Given the description of an element on the screen output the (x, y) to click on. 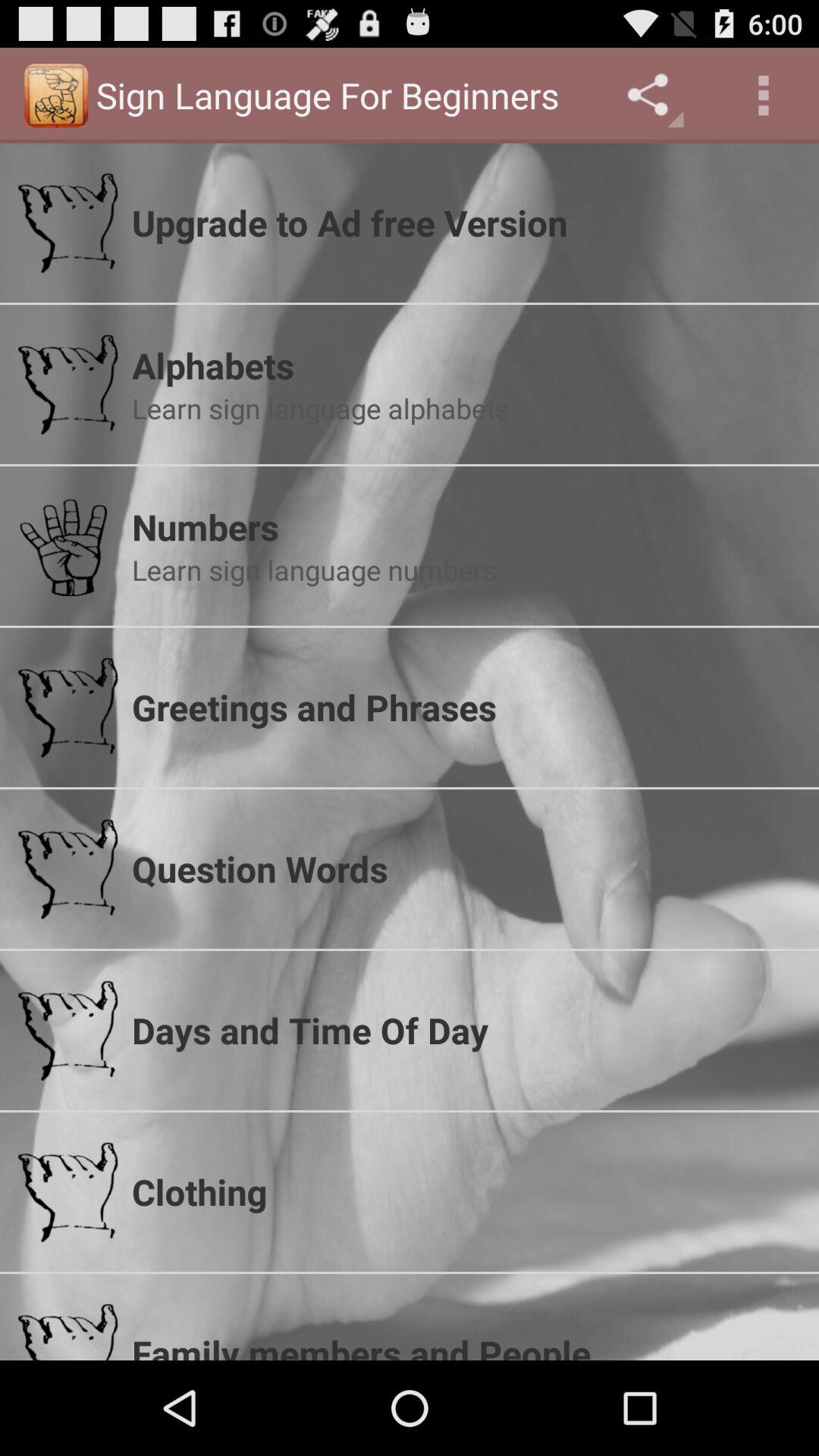
tap item above alphabets app (465, 222)
